Given the description of an element on the screen output the (x, y) to click on. 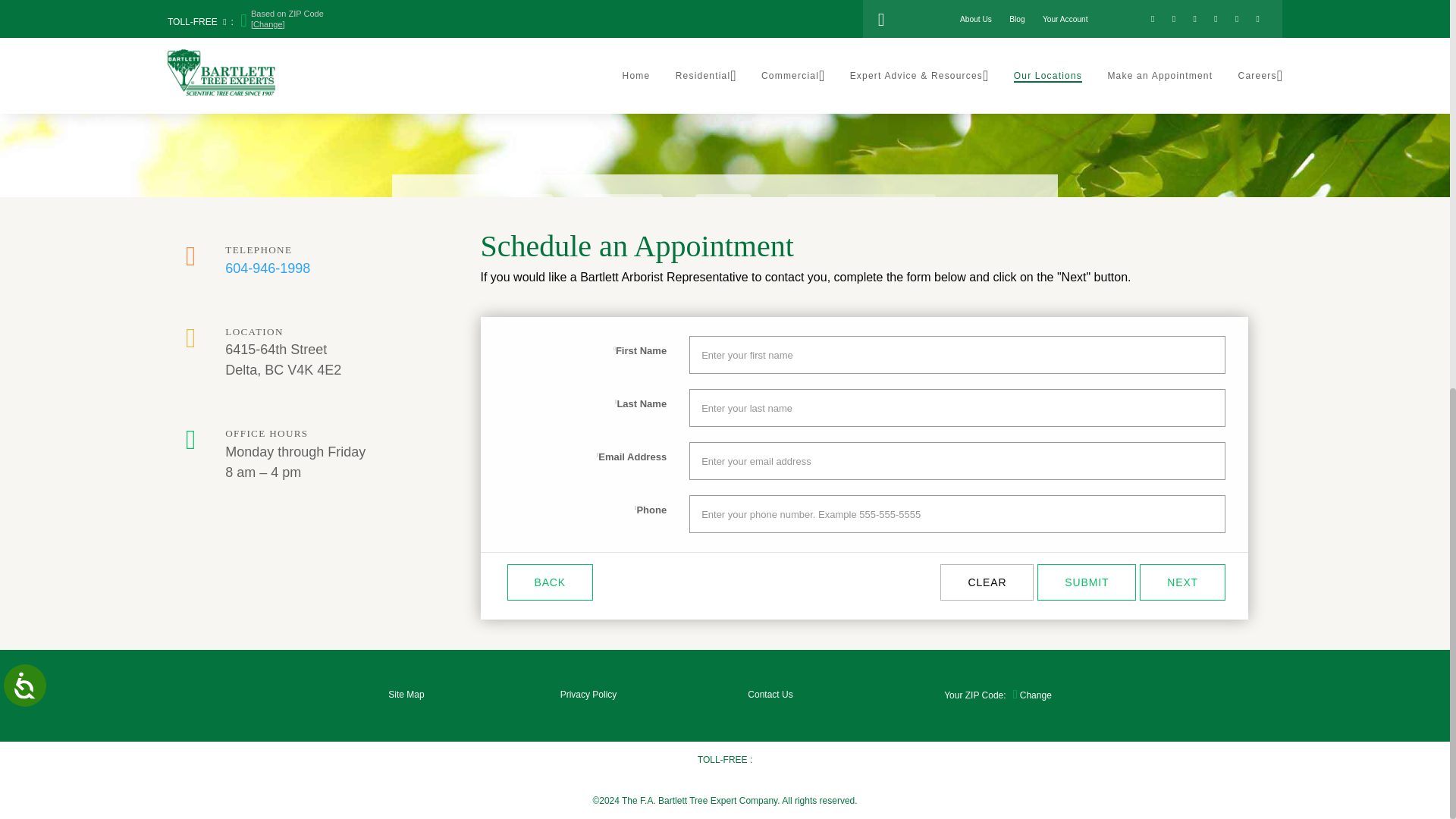
Change (997, 695)
